Given the description of an element on the screen output the (x, y) to click on. 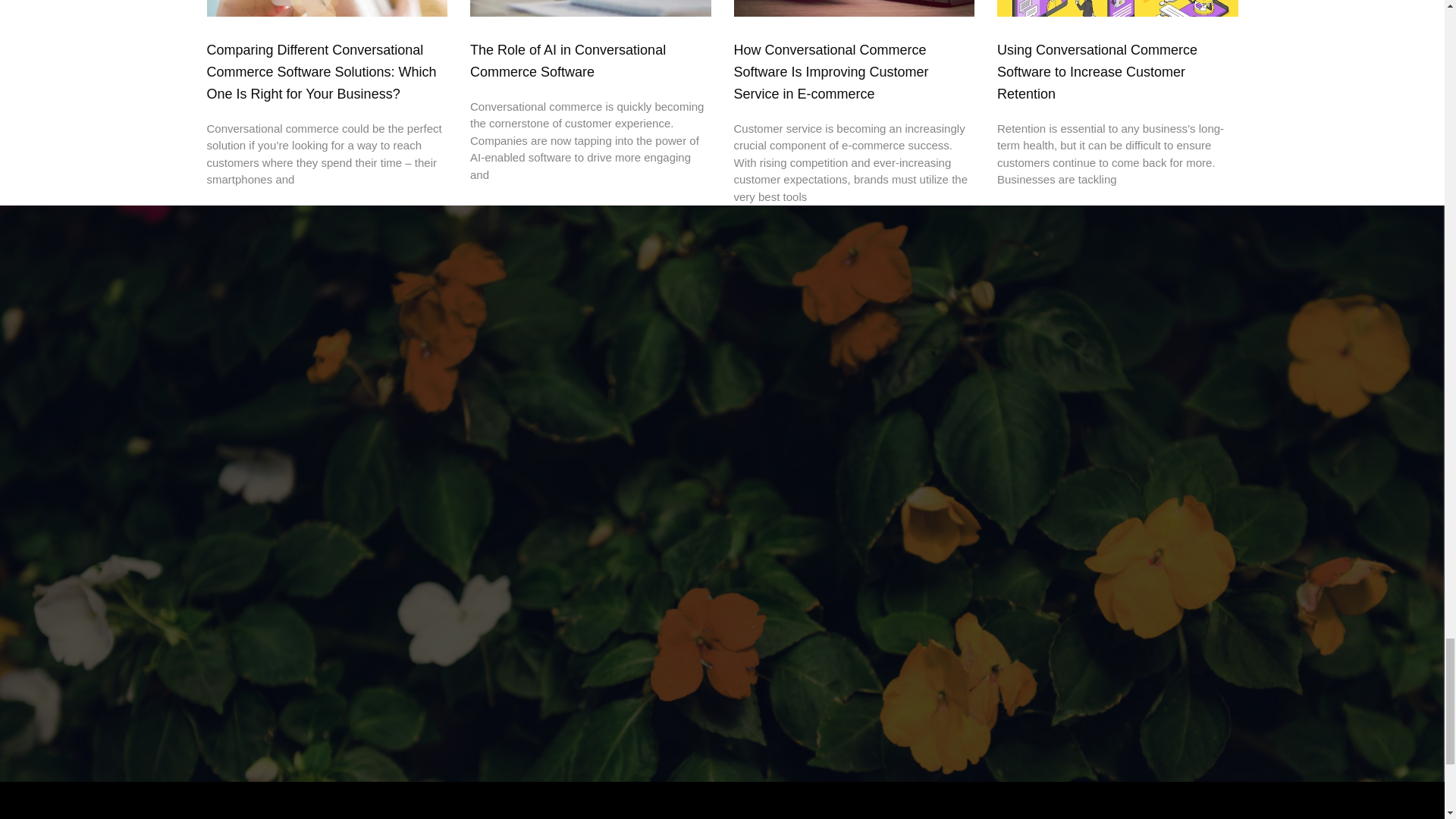
The Role of AI in Conversational Commerce Software (567, 60)
